Given the description of an element on the screen output the (x, y) to click on. 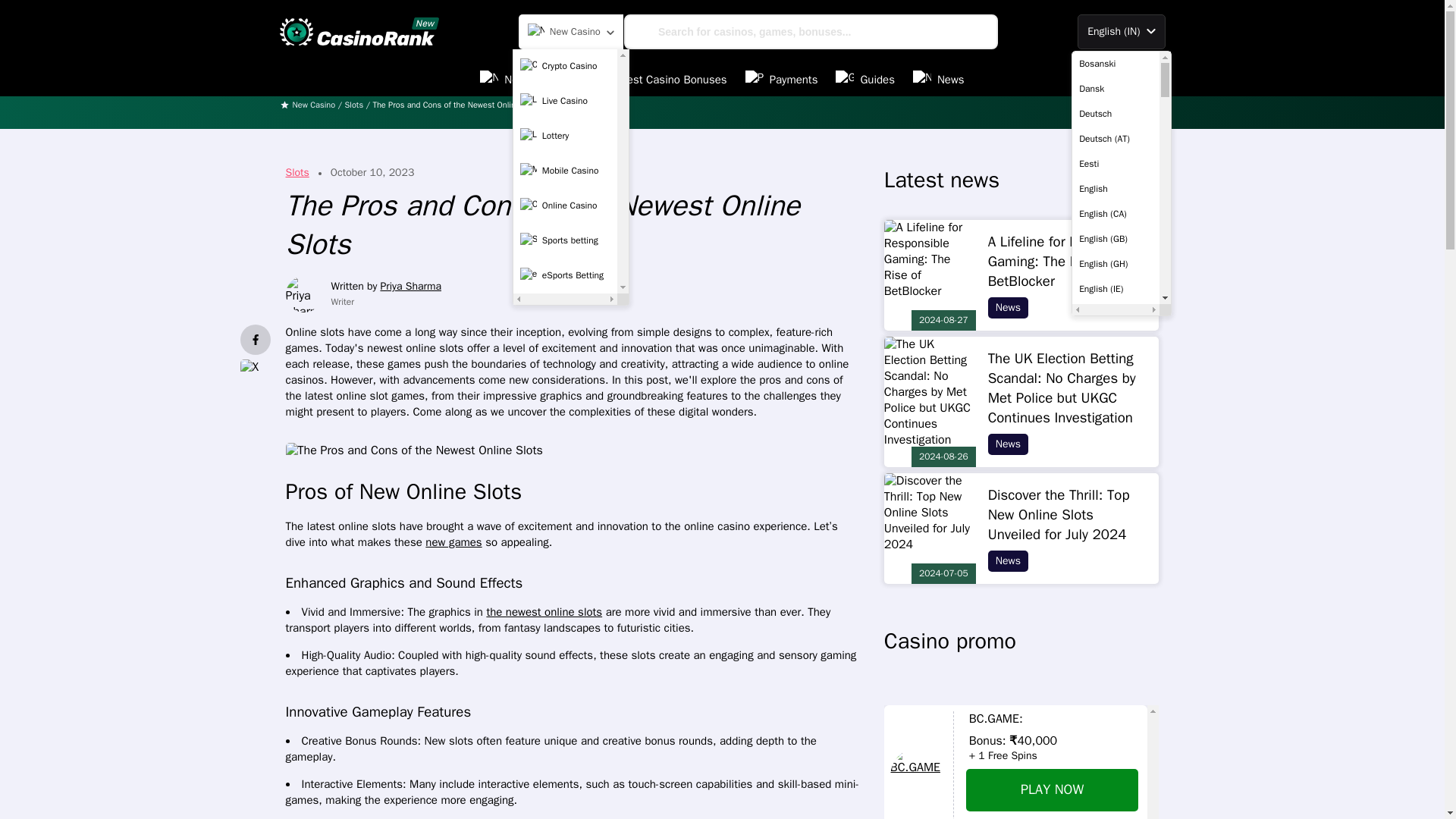
English (1115, 188)
Mobile Casino (565, 170)
Bosanski (1115, 63)
Live Casino (565, 100)
Deutsch (1115, 113)
Online Casino (565, 205)
Crypto Casino (565, 65)
Lottery (565, 135)
Hrvatski (1115, 810)
Sports betting (565, 240)
